Given the description of an element on the screen output the (x, y) to click on. 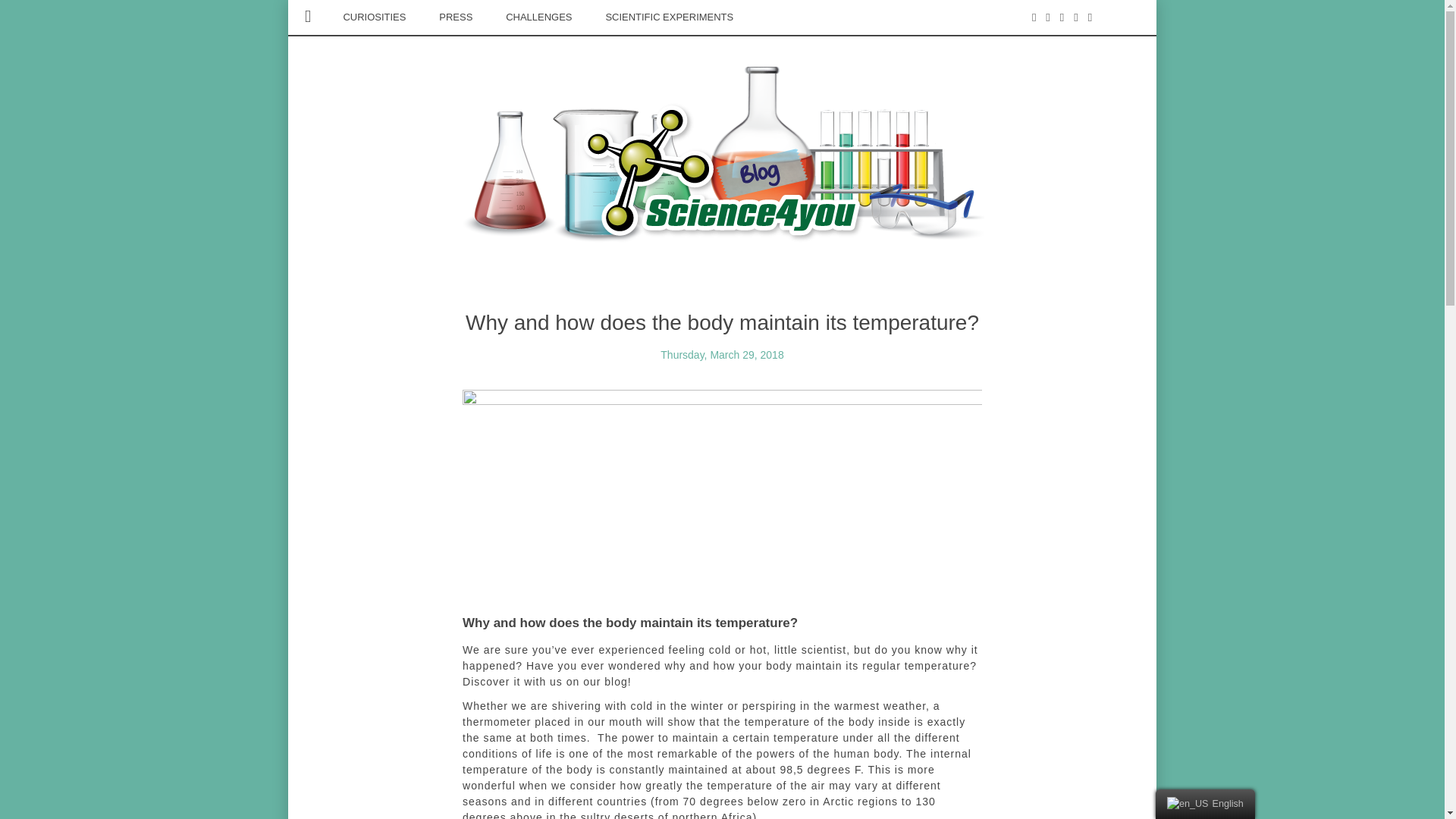
CHALLENGES (538, 17)
English (1187, 803)
PRESS (455, 17)
SCIENTIFIC EXPERIMENTS (668, 17)
Thursday, March 29, 2018 (722, 354)
English (1205, 804)
CURIOSITIES (373, 17)
